Given the description of an element on the screen output the (x, y) to click on. 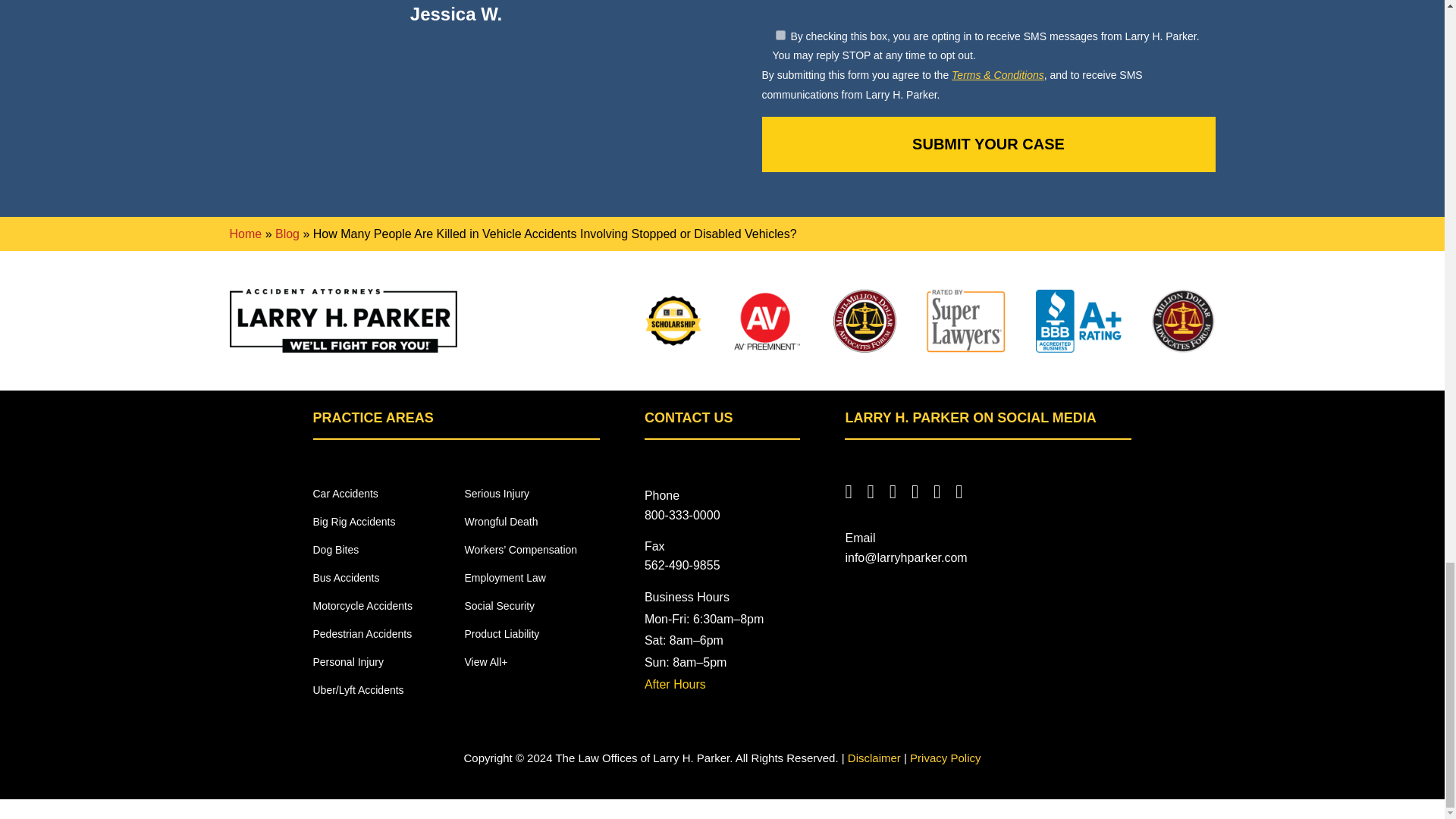
scholarship (673, 320)
Multi Million Dollar Advocates (1182, 320)
Multi Million Dollar Forum (863, 320)
Submit Your Case (987, 144)
After Hours (675, 684)
AV Preeminent (767, 320)
Super Lawyers  (966, 320)
